Given the description of an element on the screen output the (x, y) to click on. 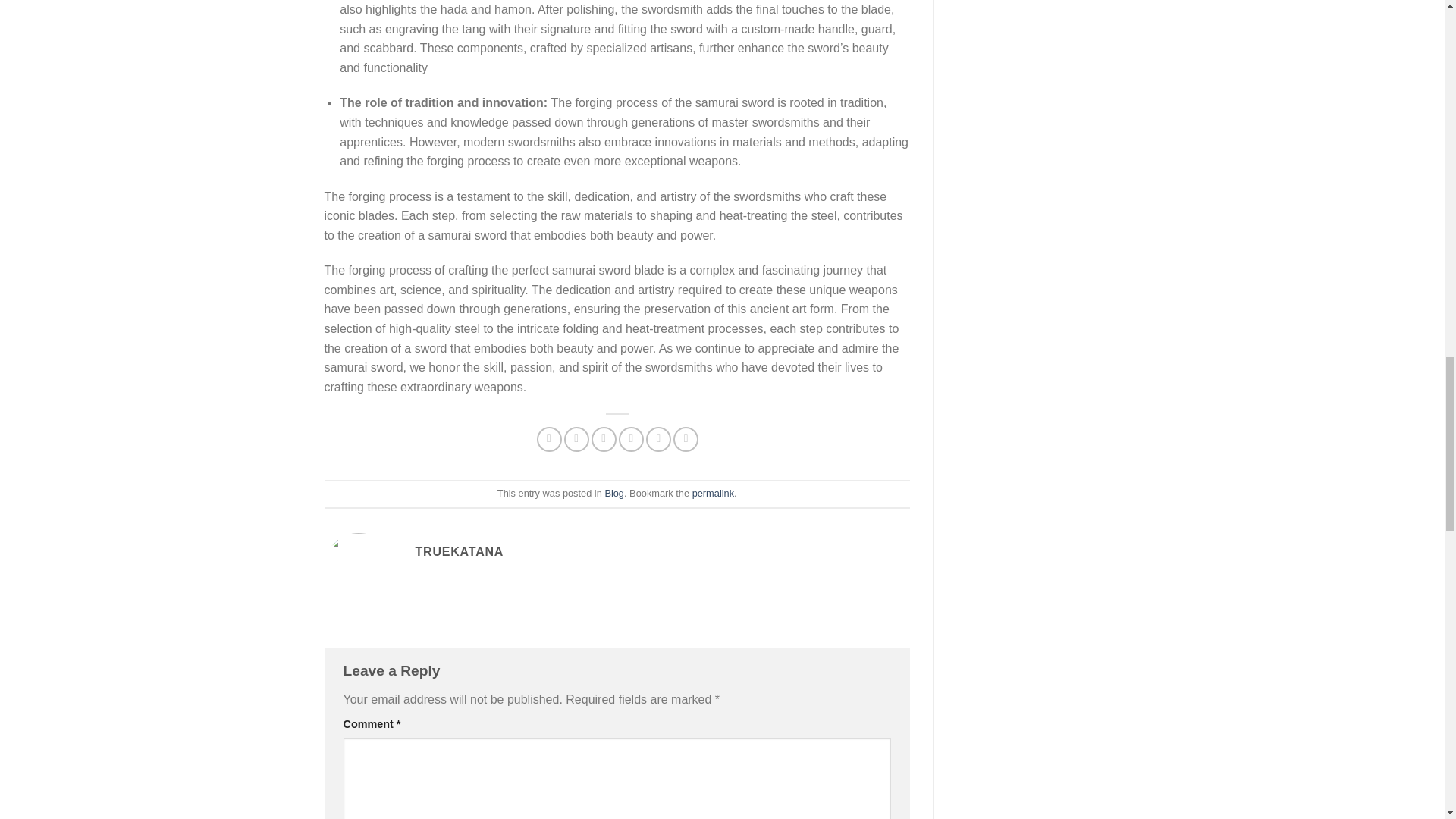
Blog (614, 492)
Share on Facebook (549, 439)
Email to a Friend (603, 439)
permalink (713, 492)
Pin on Pinterest (630, 439)
Share on Twitter (576, 439)
